Given the description of an element on the screen output the (x, y) to click on. 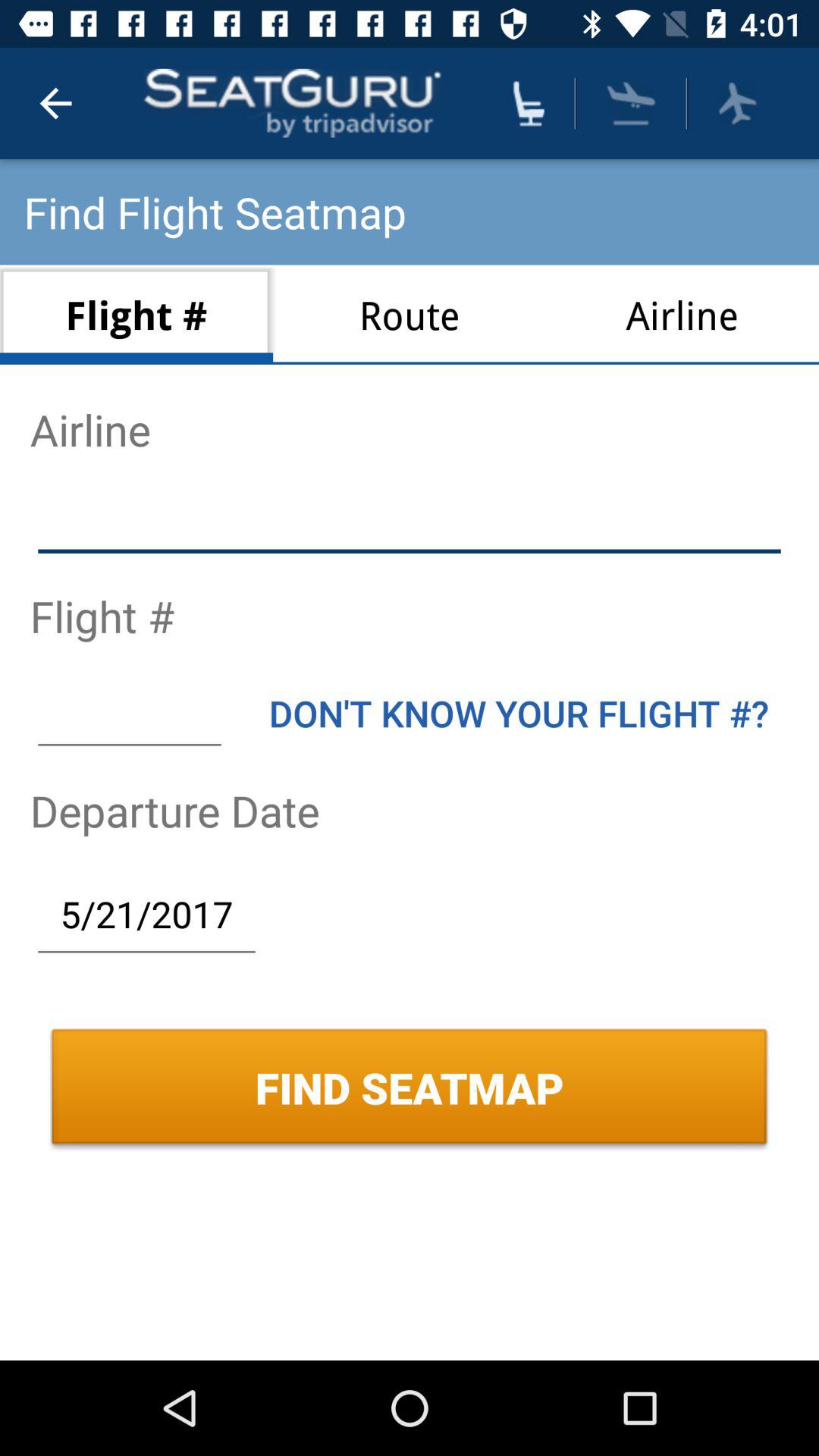
jump until 5/21/2017 item (146, 913)
